Given the description of an element on the screen output the (x, y) to click on. 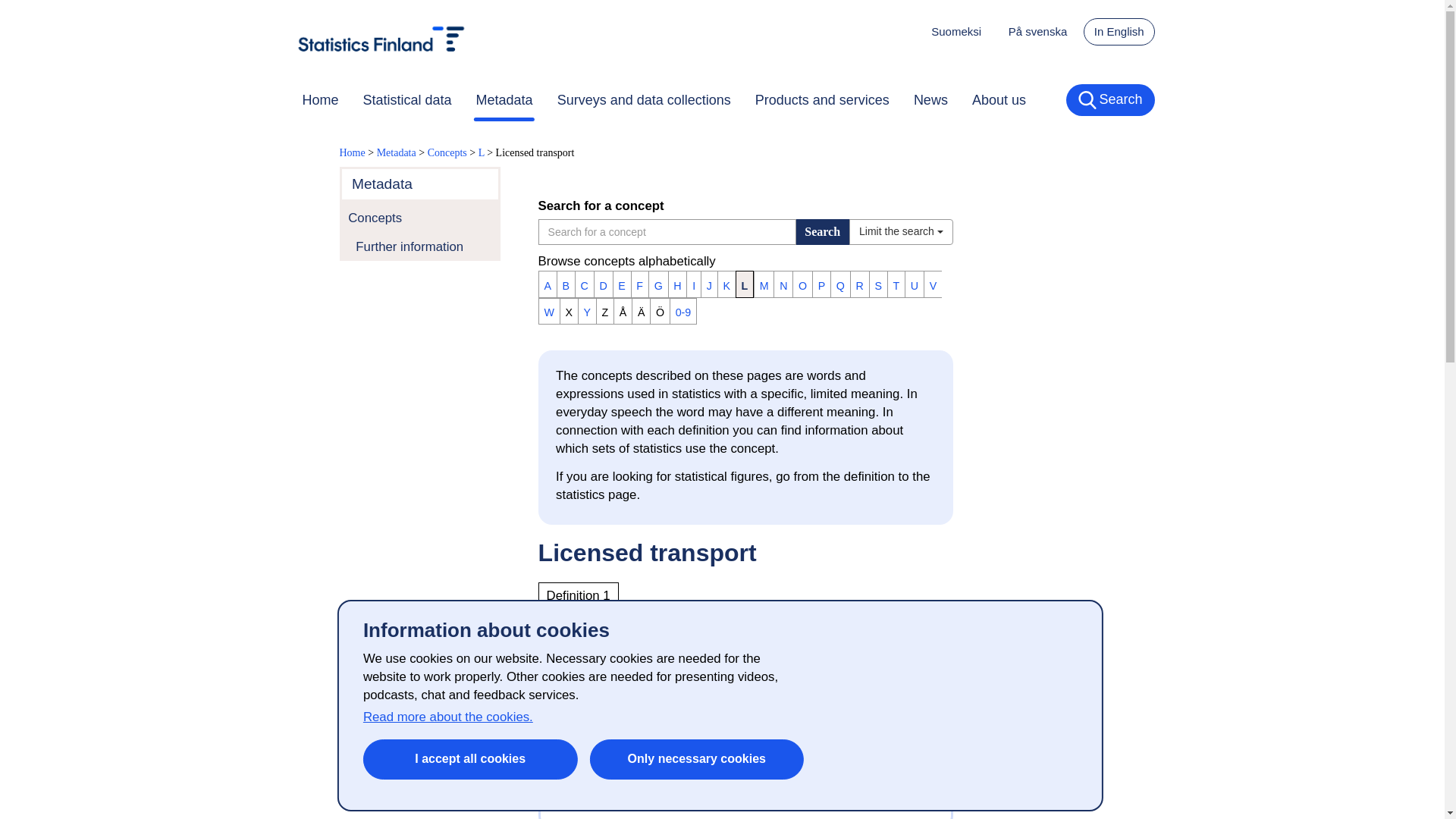
Statistical data (407, 99)
Further information (419, 246)
Surveys and data collections (643, 99)
Metadata (504, 99)
Concepts (419, 218)
Concepts (447, 152)
Only necessary cookies (696, 759)
D (603, 284)
Search (1109, 99)
B (565, 284)
In English (1118, 31)
Home (319, 99)
I accept all cookies (470, 759)
Read more about the cookies. (447, 716)
E (621, 284)
